Given the description of an element on the screen output the (x, y) to click on. 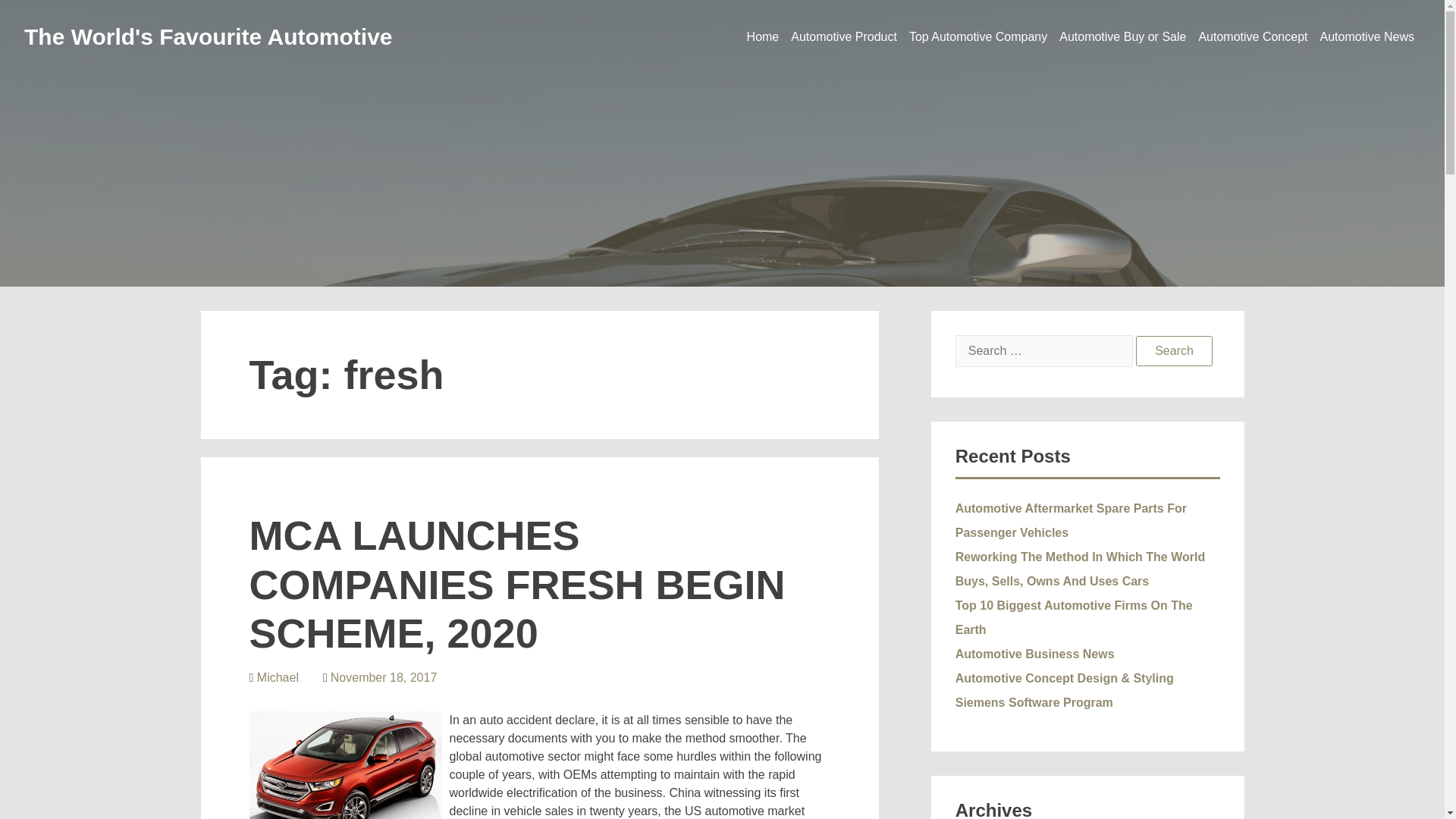
Search (1173, 350)
Top 10 Biggest Automotive Firms On The Earth (1073, 617)
The World's Favourite Automotive (208, 36)
Search (1173, 350)
Automotive Concept (1252, 36)
Automotive News (1367, 36)
Automotive Aftermarket Spare Parts For Passenger Vehicles (1070, 520)
Automotive Buy or Sale (1122, 36)
November 18, 2017 (384, 676)
Home (763, 36)
MCA LAUNCHES COMPANIES FRESH BEGIN SCHEME, 2020 (516, 584)
Top Automotive Company (977, 36)
Michael (277, 676)
Search (1173, 350)
